Given the description of an element on the screen output the (x, y) to click on. 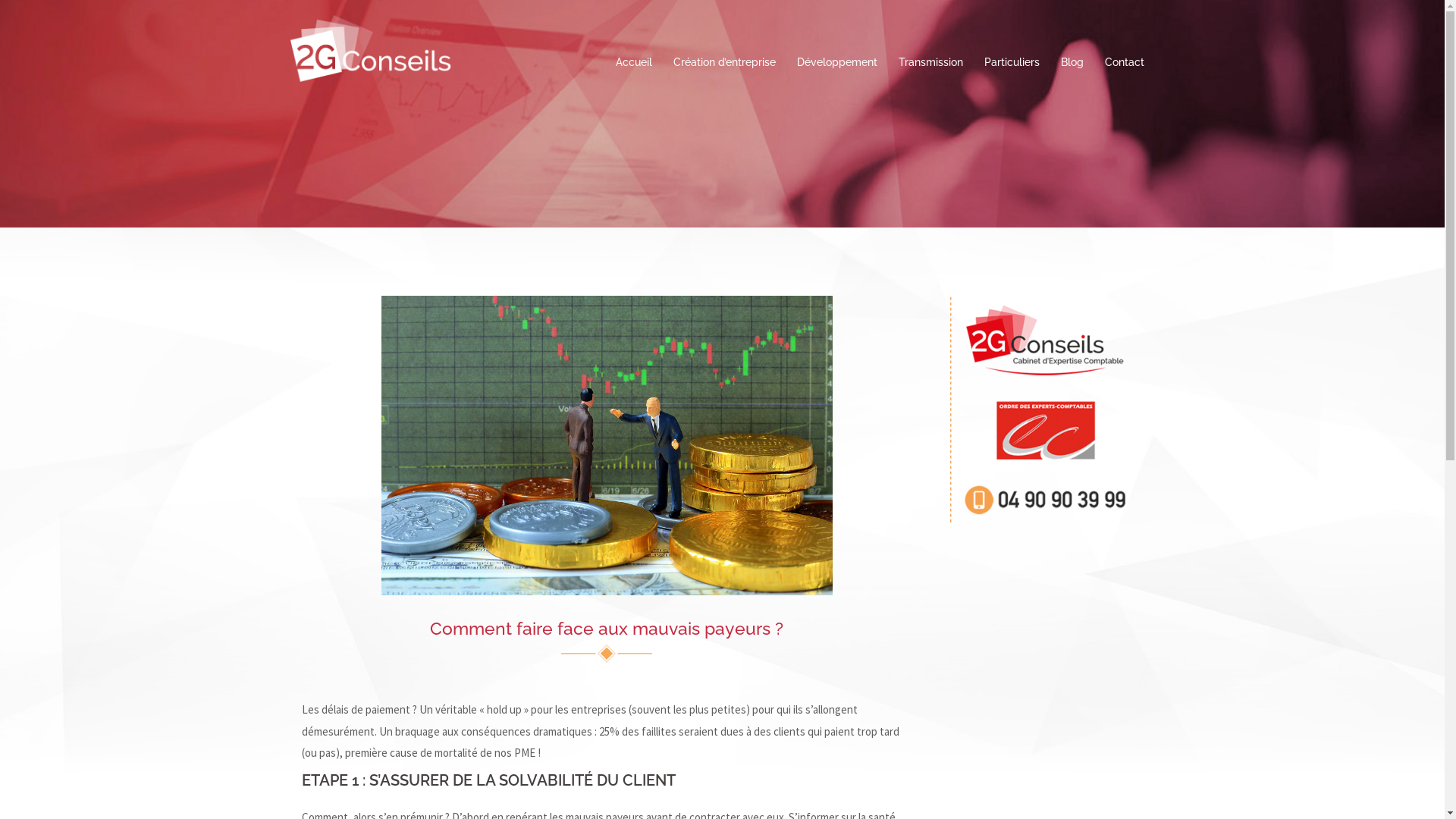
Accueil Element type: text (633, 62)
Skip to content Element type: text (0, 0)
Blog Element type: text (1071, 62)
Contact Element type: text (1123, 62)
Particuliers Element type: text (1011, 62)
2G Conseils Element type: hover (370, 51)
Transmission Element type: text (929, 62)
